Given the description of an element on the screen output the (x, y) to click on. 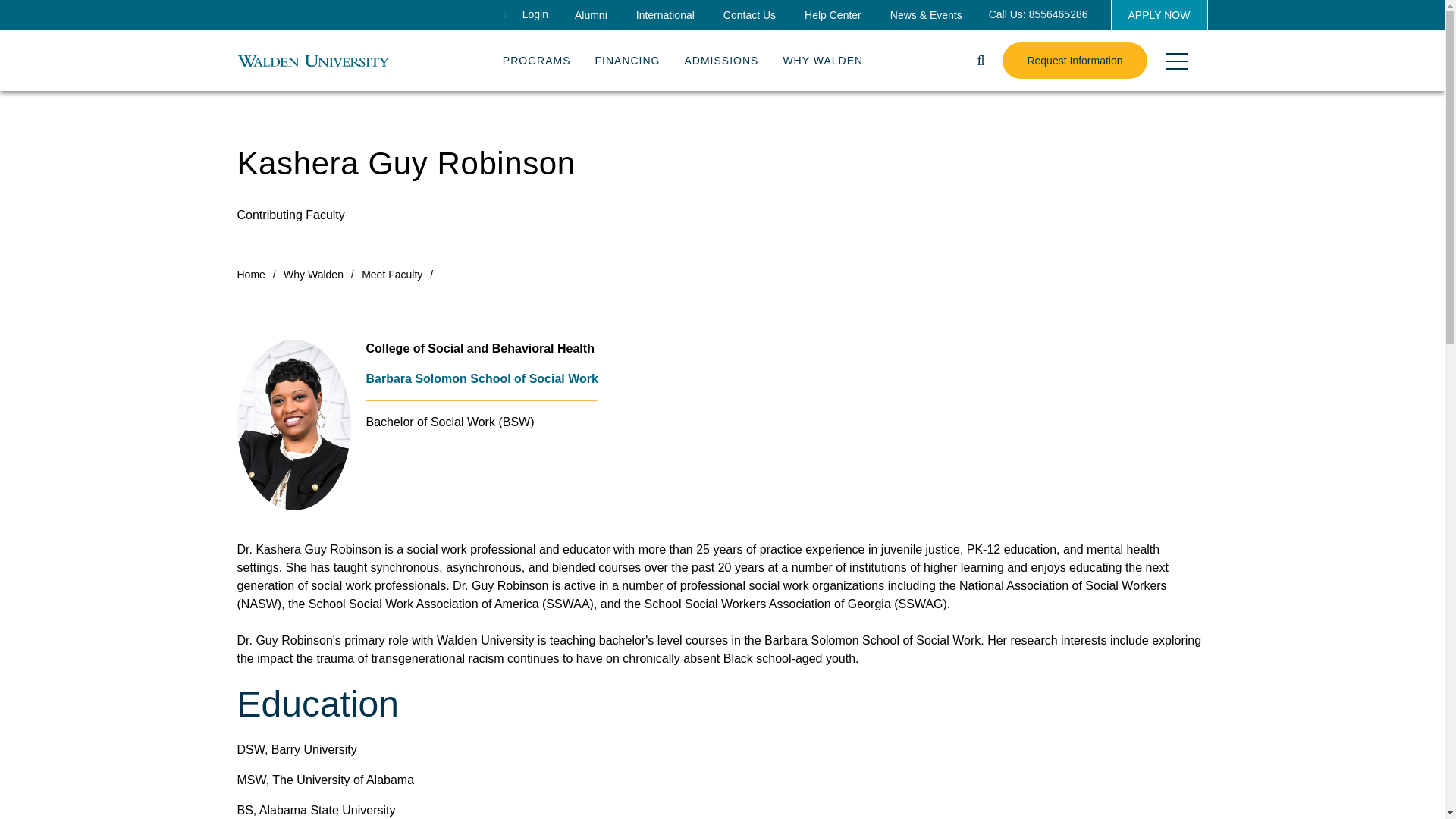
Home (311, 60)
Walden Alumni (590, 15)
Programs (536, 57)
